Given the description of an element on the screen output the (x, y) to click on. 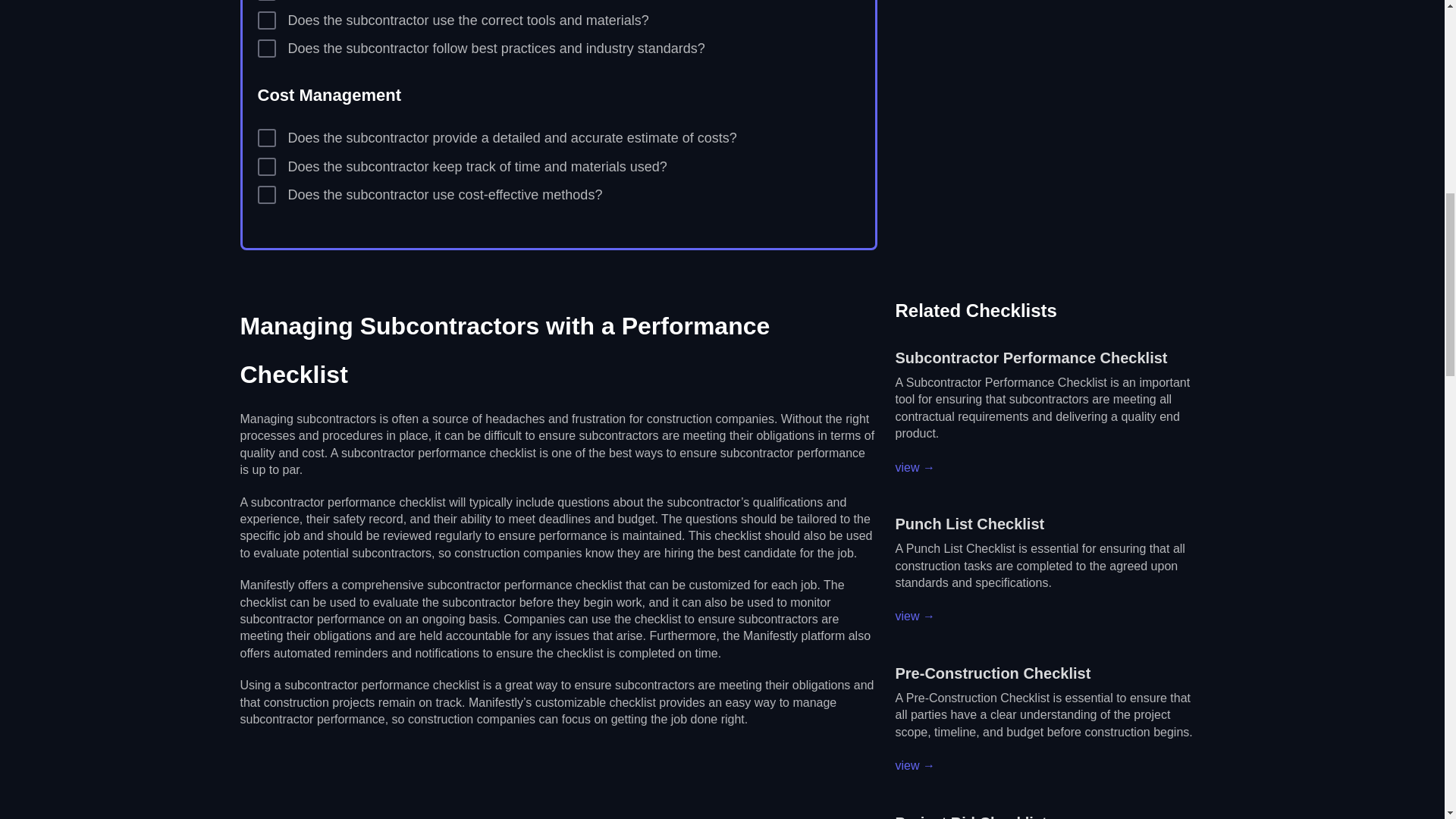
true (266, 194)
true (266, 167)
true (266, 137)
true (266, 20)
Subcontractor Performance Checklist (1031, 357)
Punch List Checklist (969, 523)
Project Bid Checklist (970, 816)
true (266, 48)
Pre-Construction Checklist (992, 673)
